Given the description of an element on the screen output the (x, y) to click on. 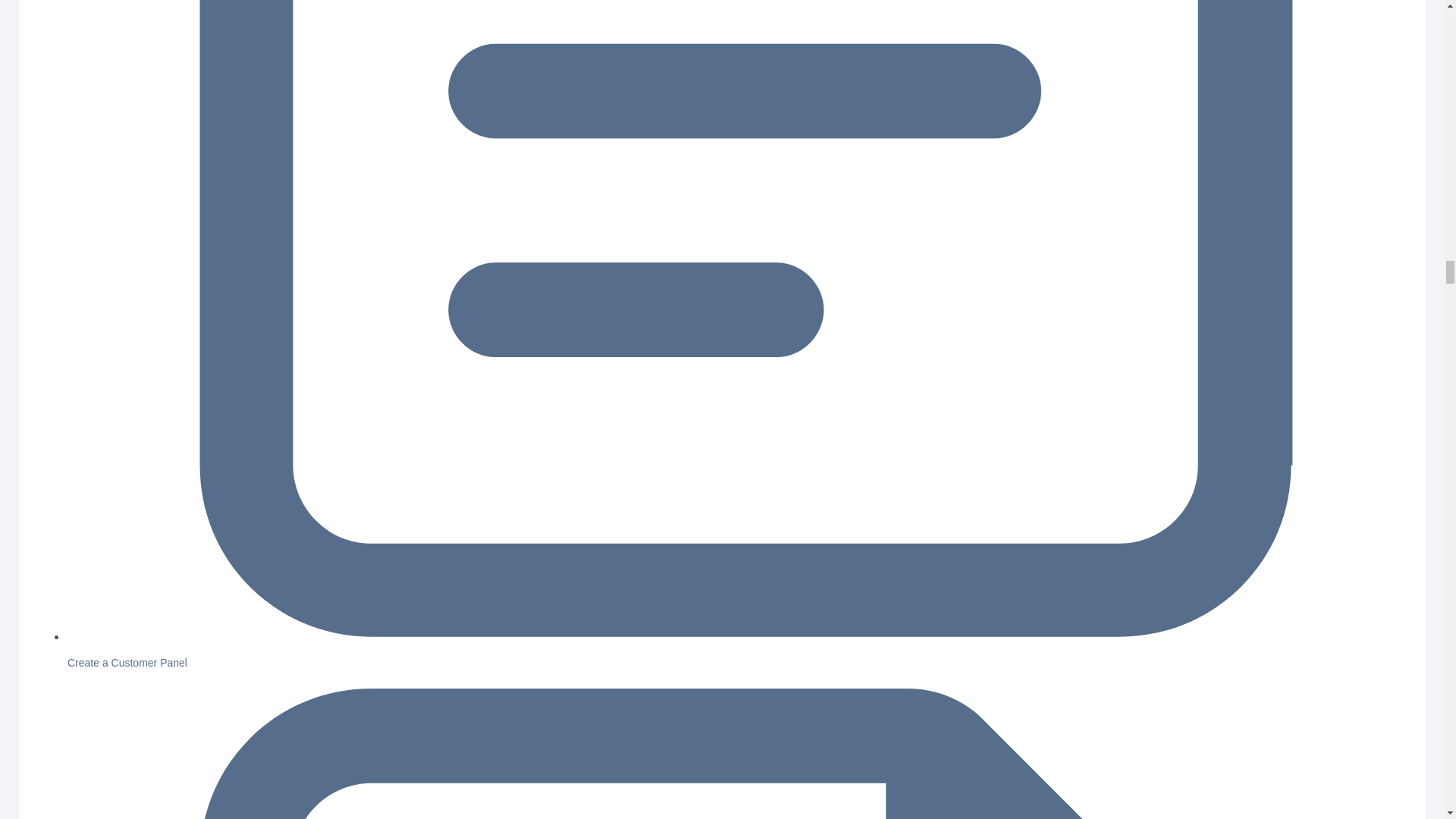
Create a Customer Panel (126, 662)
